Given the description of an element on the screen output the (x, y) to click on. 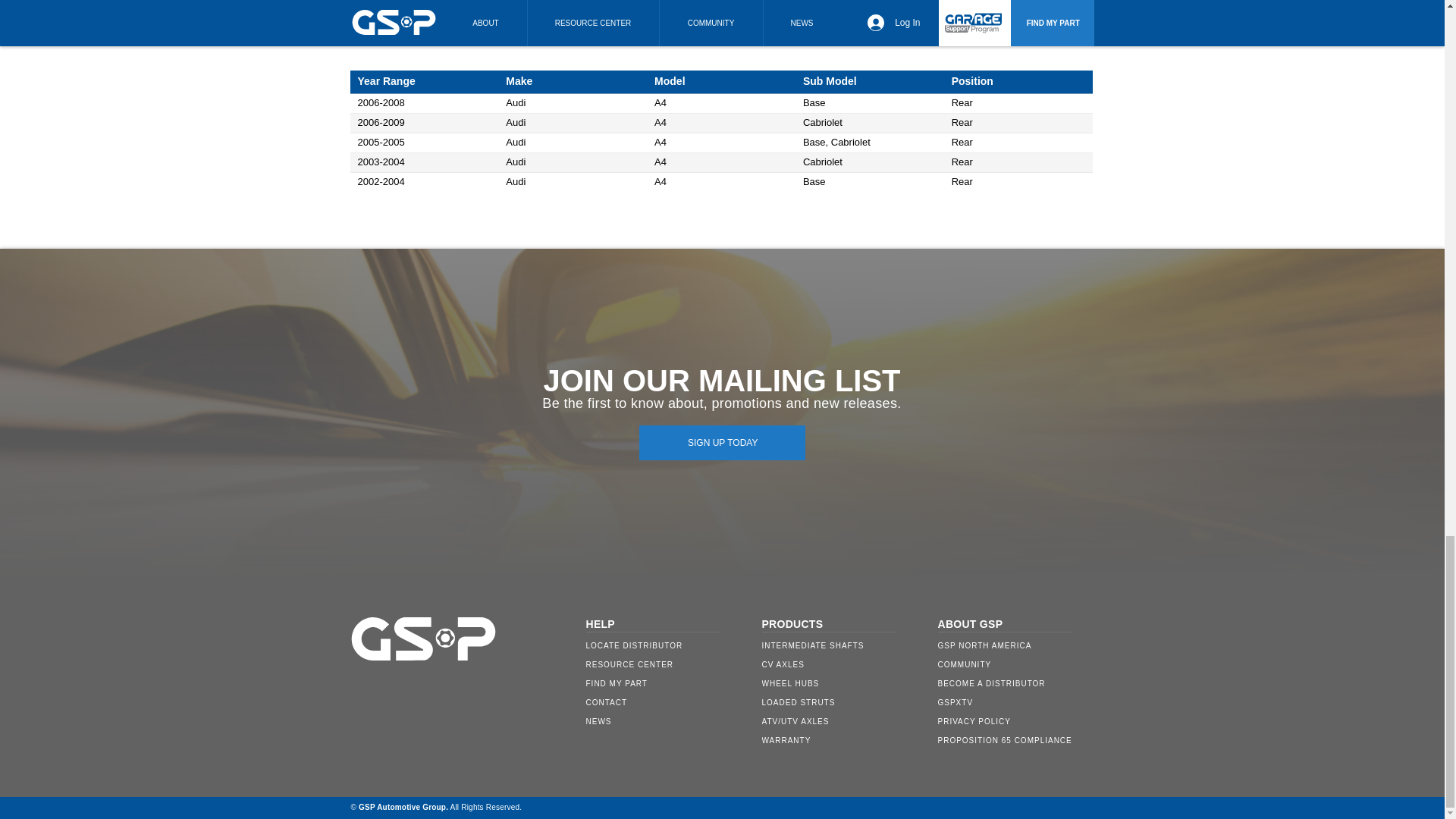
CONTACT (663, 701)
LOCATE DISTRIBUTOR (663, 646)
COMMUNITY (1015, 664)
WHEEL HUBS (839, 683)
GSPXTV (1015, 701)
BECOME A DISTRIBUTOR (1015, 683)
PRIVACY POLICY (1015, 721)
NEWS (663, 721)
GSP Automotive Group (401, 807)
PROPOSITION 65 COMPLIANCE (1015, 740)
SIGN UP TODAY (722, 442)
CV AXLES (839, 664)
FIND MY PART (663, 683)
GSP NORTH AMERICA (1015, 646)
RESOURCE CENTER (663, 664)
